Given the description of an element on the screen output the (x, y) to click on. 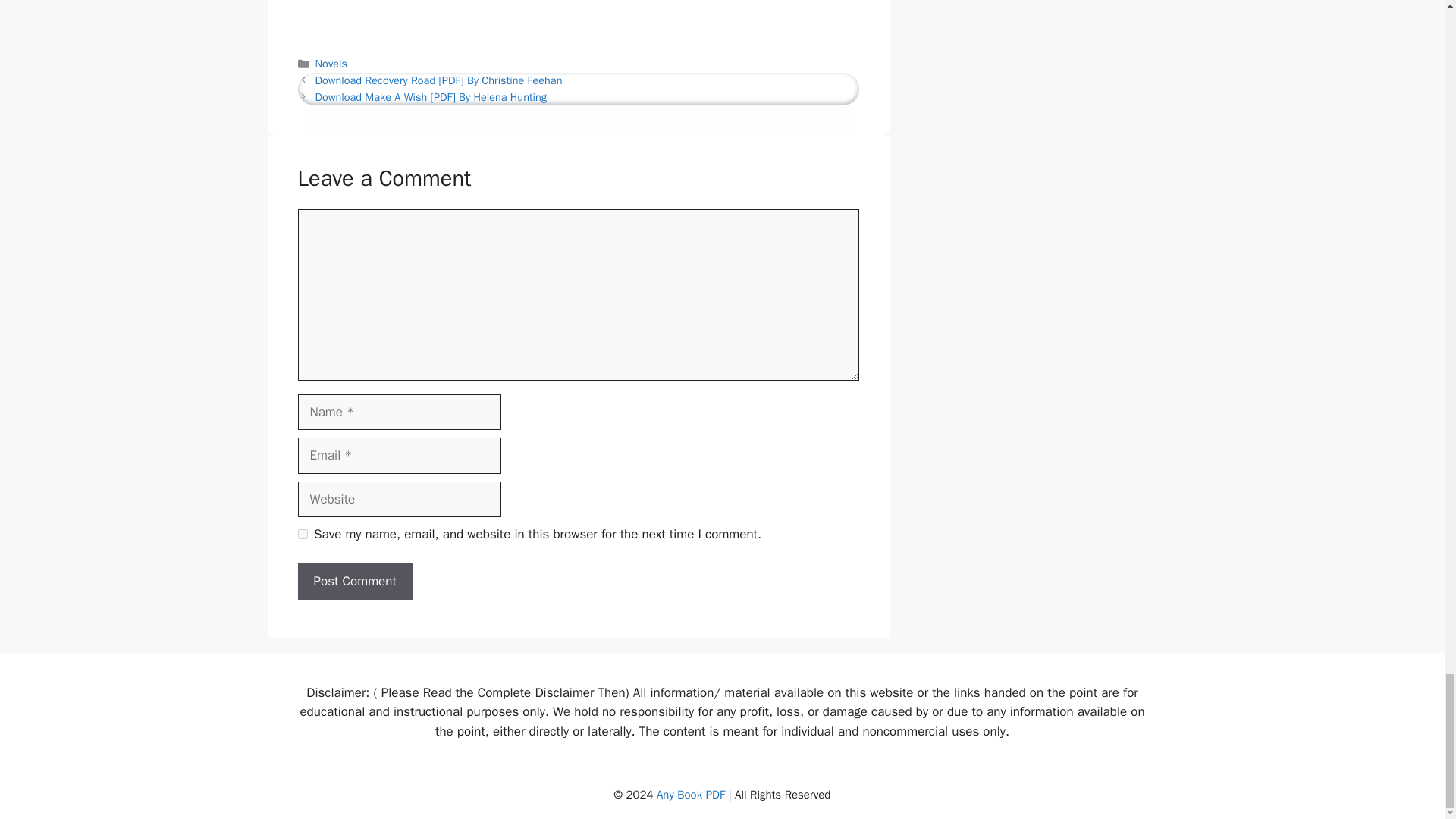
yes (302, 533)
Post Comment (354, 581)
